Given the description of an element on the screen output the (x, y) to click on. 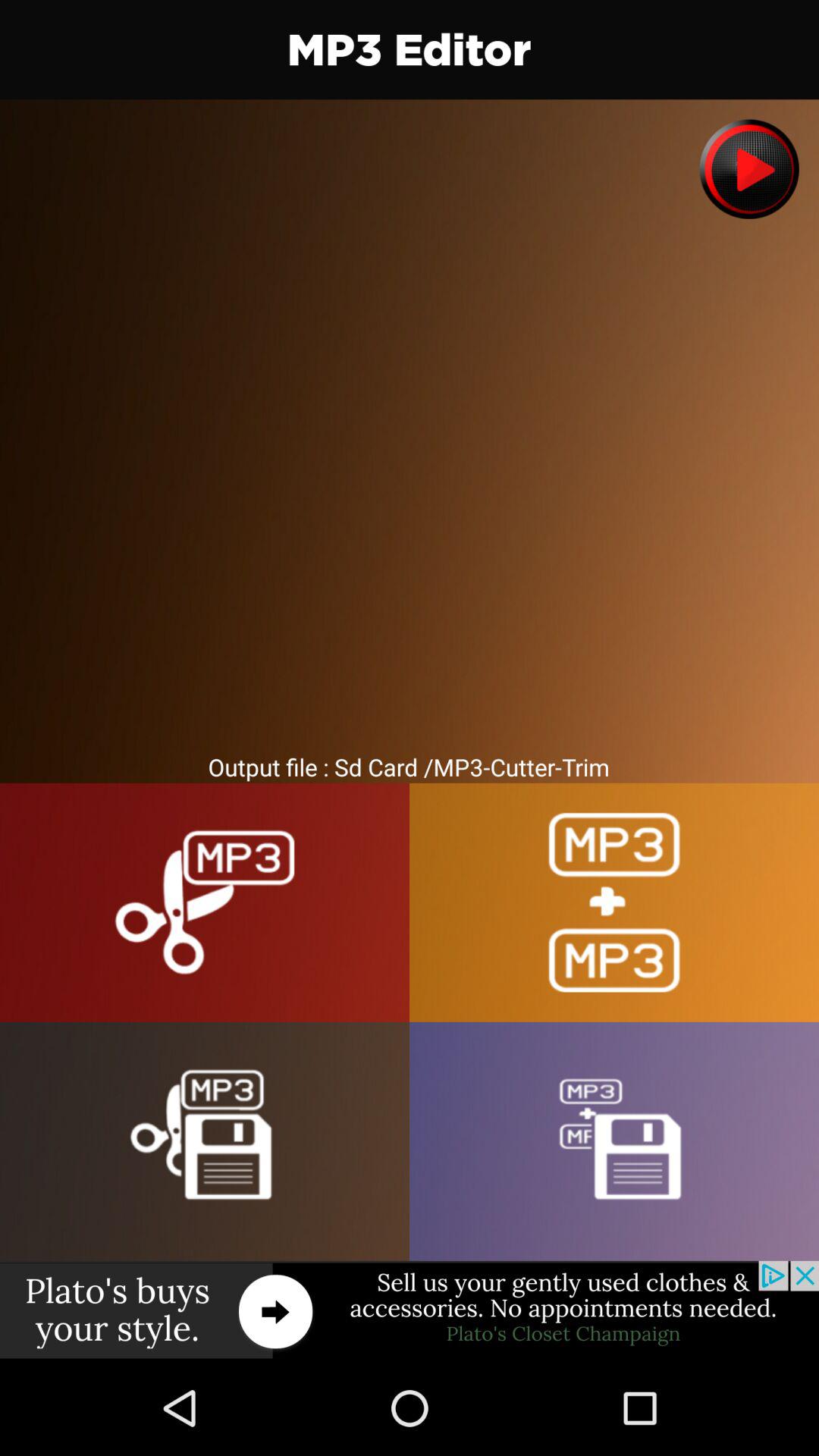
choose the selection (614, 1141)
